Given the description of an element on the screen output the (x, y) to click on. 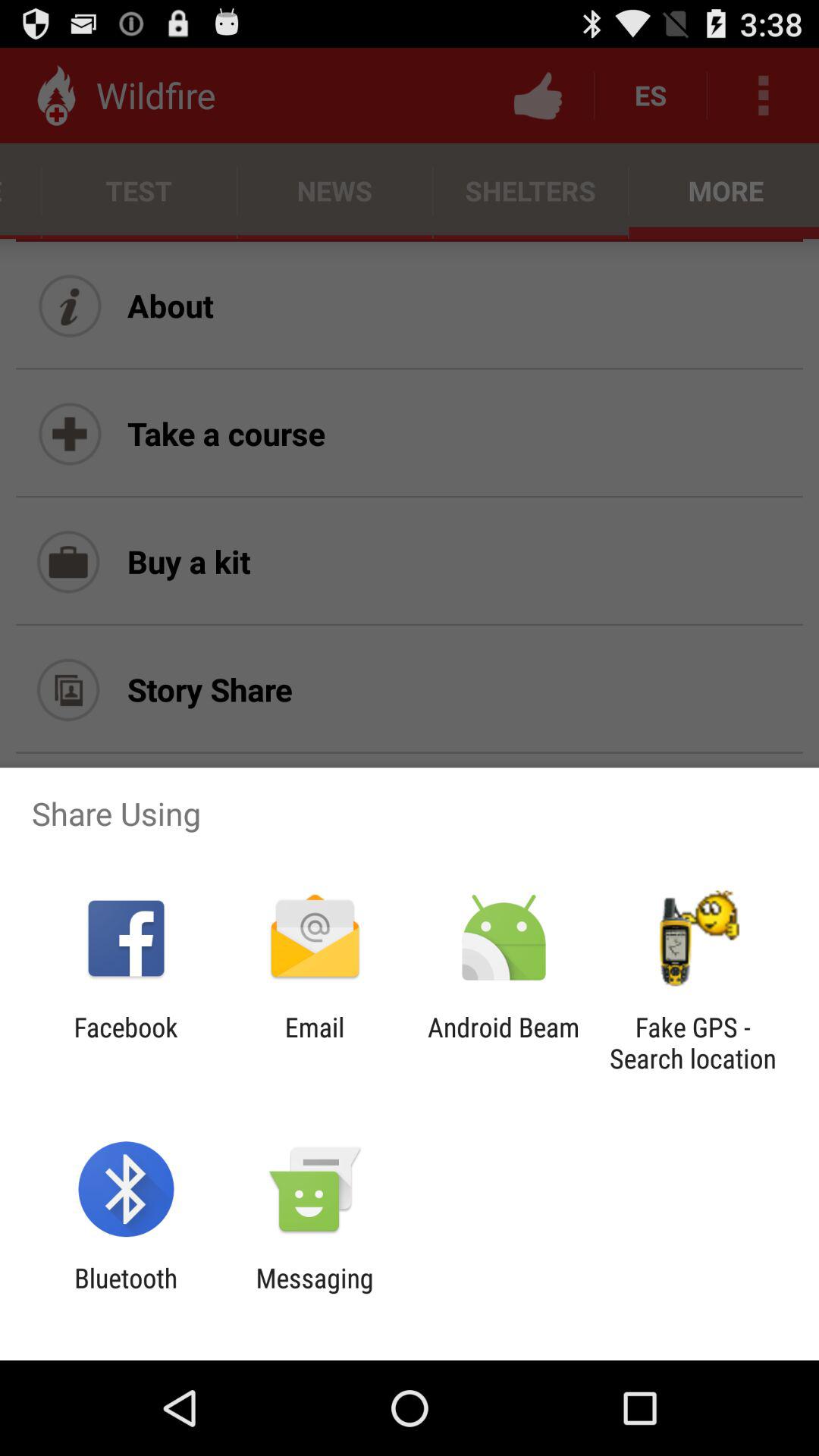
click android beam (503, 1042)
